Given the description of an element on the screen output the (x, y) to click on. 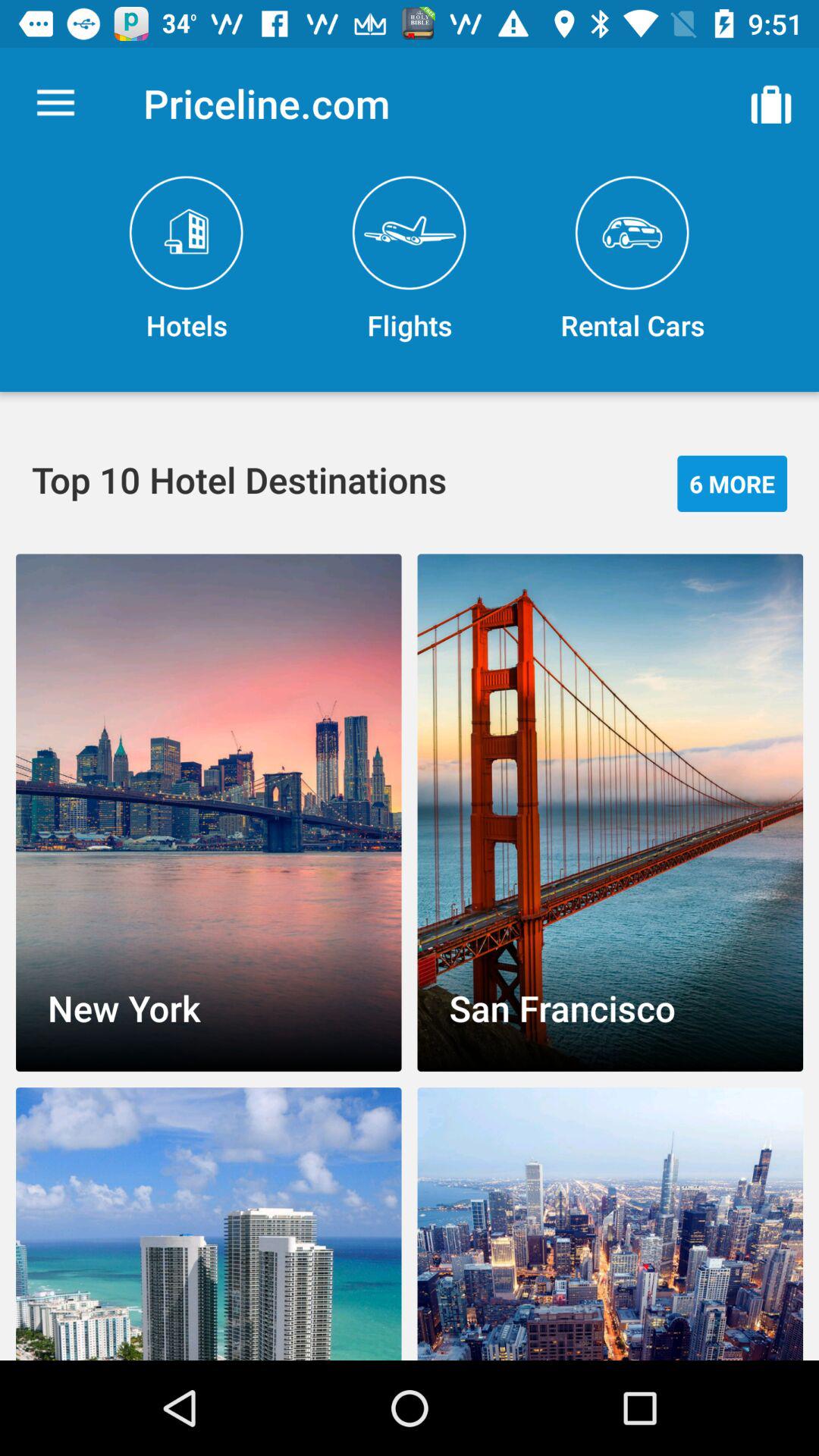
launch the item to the left of priceline.com item (55, 103)
